Given the description of an element on the screen output the (x, y) to click on. 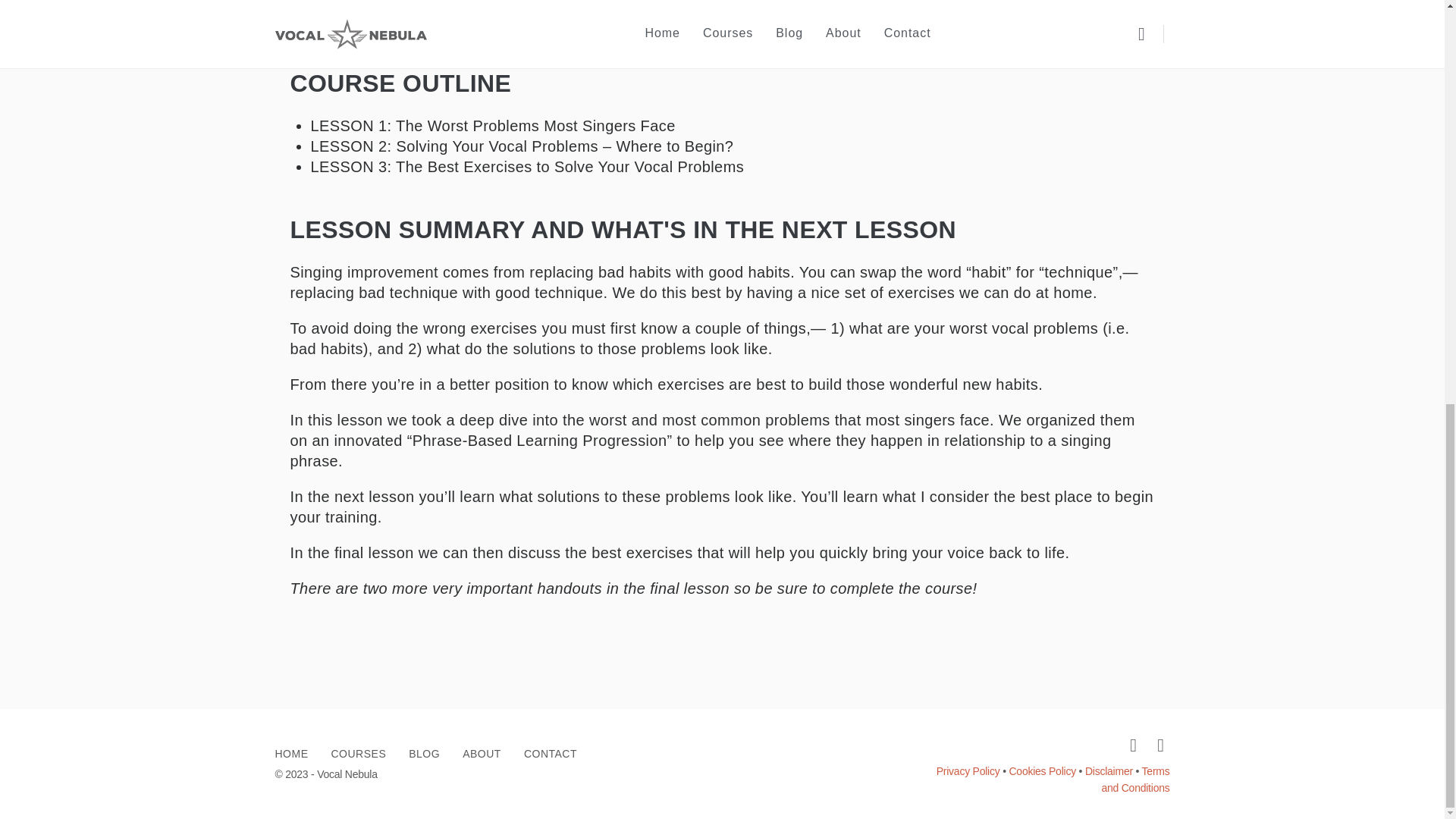
Cookies Policy (1042, 770)
BLOG (424, 753)
COURSES (357, 753)
Terms and Conditions (1134, 778)
CONTACT (550, 753)
ABOUT (481, 753)
Disclaimer (1108, 770)
HOME (291, 753)
Privacy Policy (968, 770)
